Given the description of an element on the screen output the (x, y) to click on. 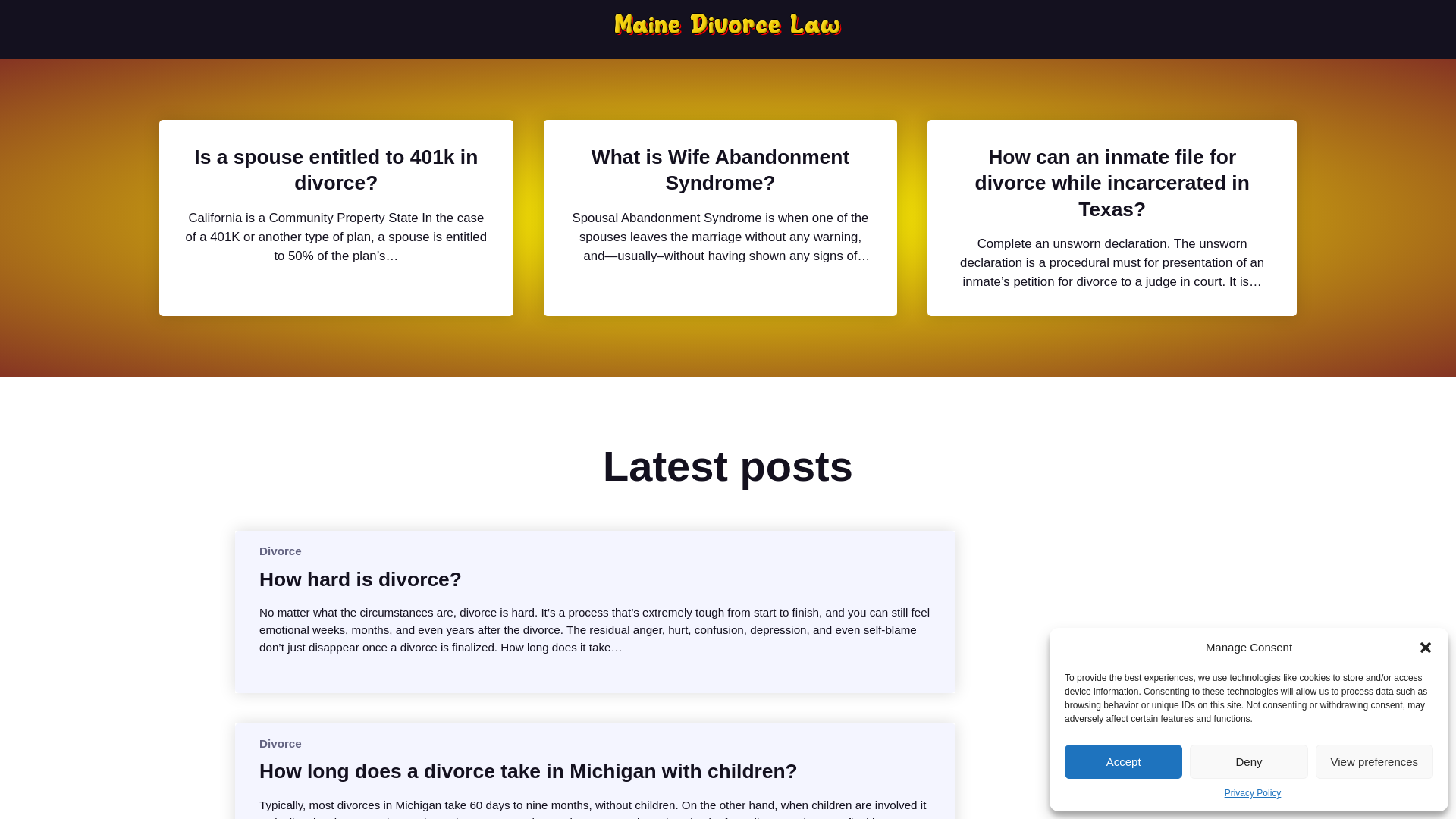
How hard is divorce? (360, 579)
Privacy Policy (1252, 793)
Is a spouse entitled to 401k in divorce? (336, 170)
What is Wife Abandonment Syndrome? (720, 170)
Divorce (280, 743)
Accept (1123, 761)
How long does a divorce take in Michigan with children? (528, 770)
View preferences (1374, 761)
Divorce (280, 550)
Deny (1248, 761)
